Given the description of an element on the screen output the (x, y) to click on. 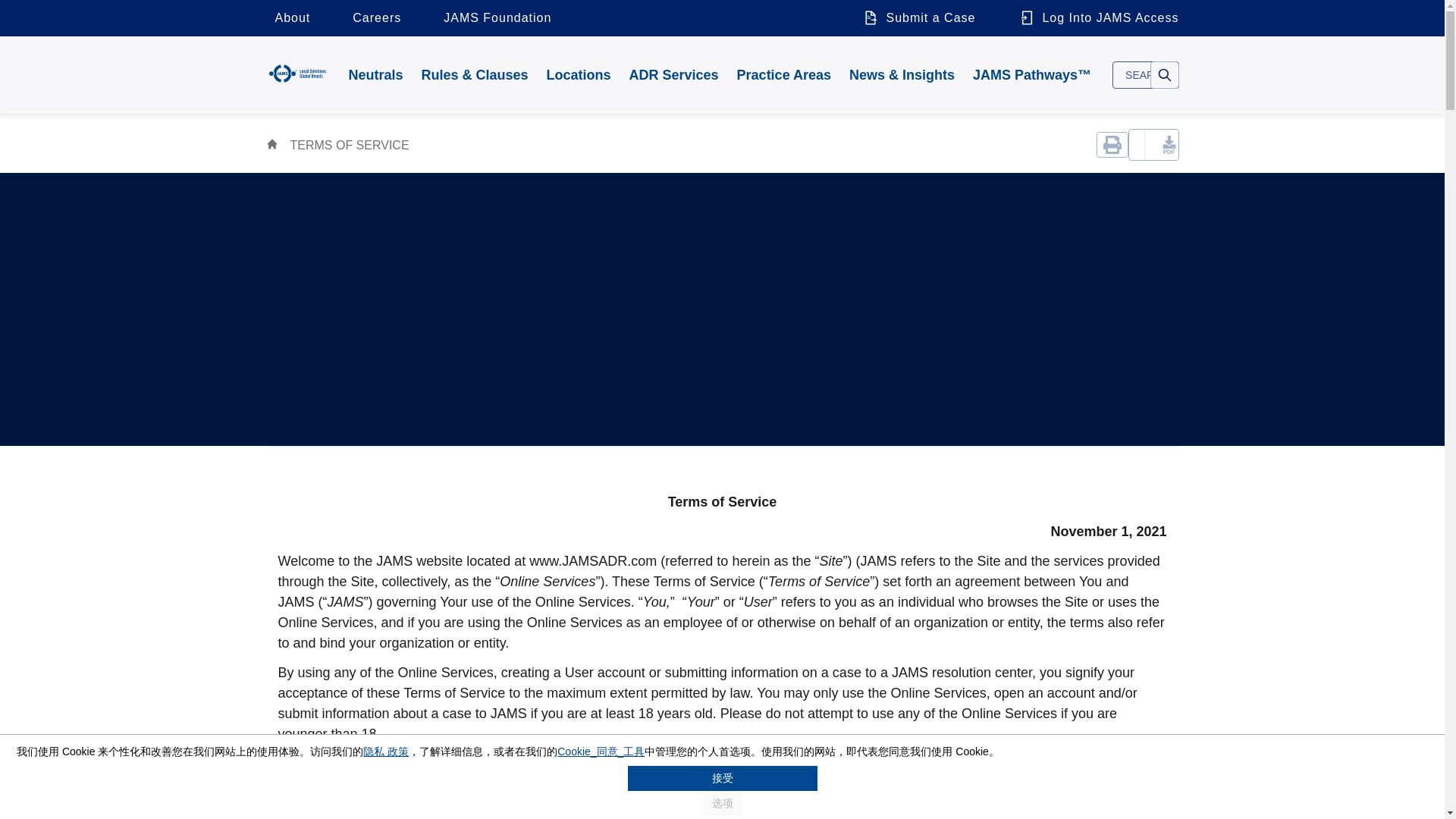
Print Page (1112, 144)
JAMS Home (296, 73)
Submit a Case (917, 18)
About (291, 18)
Careers (376, 18)
Download page as PDF (1153, 144)
Neutrals (375, 74)
Log Into JAMS Access (1093, 18)
JAMS Foundation (496, 18)
